Given the description of an element on the screen output the (x, y) to click on. 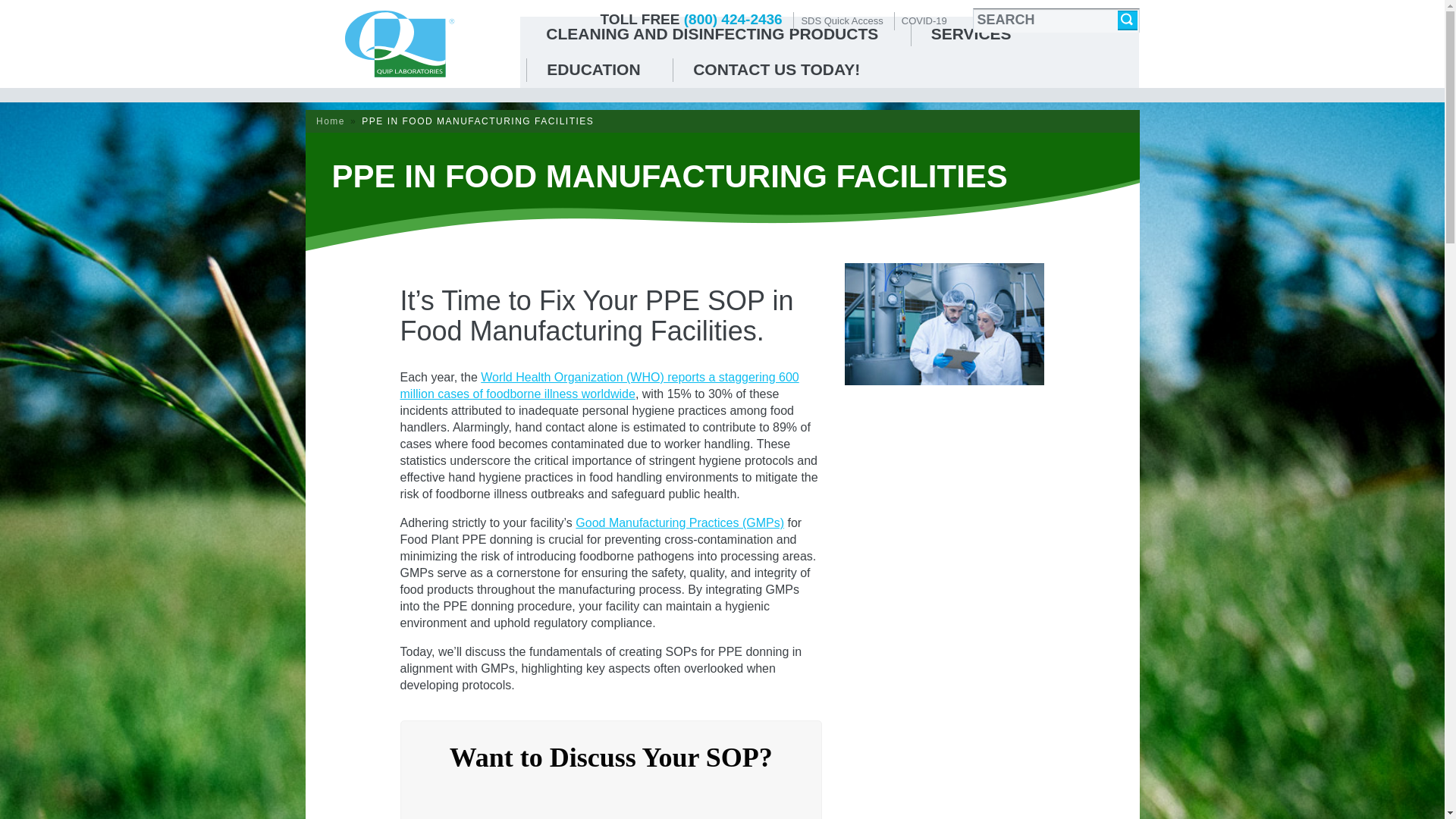
Search (1127, 20)
SERVICES (970, 33)
EDUCATION (593, 69)
COVID-19 (925, 20)
CLEANING AND DISINFECTING PRODUCTS (711, 33)
CONTACT US TODAY! (776, 69)
Search (1127, 20)
Home (330, 121)
SDS Quick Access (841, 20)
